Given the description of an element on the screen output the (x, y) to click on. 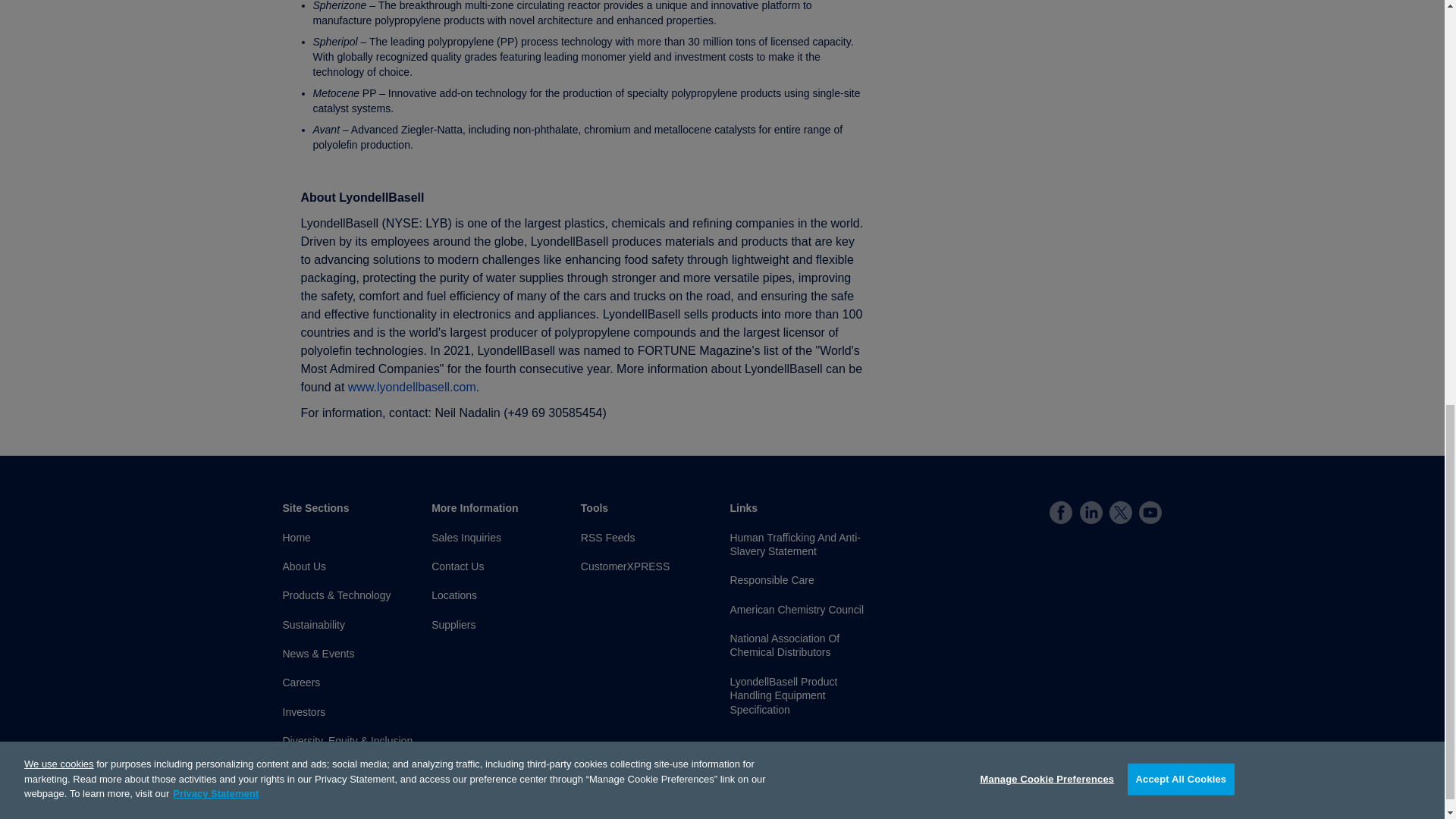
LinkedIn (1091, 512)
Youtube (1149, 512)
Twitter (1120, 512)
Facebook (1060, 512)
